Given the description of an element on the screen output the (x, y) to click on. 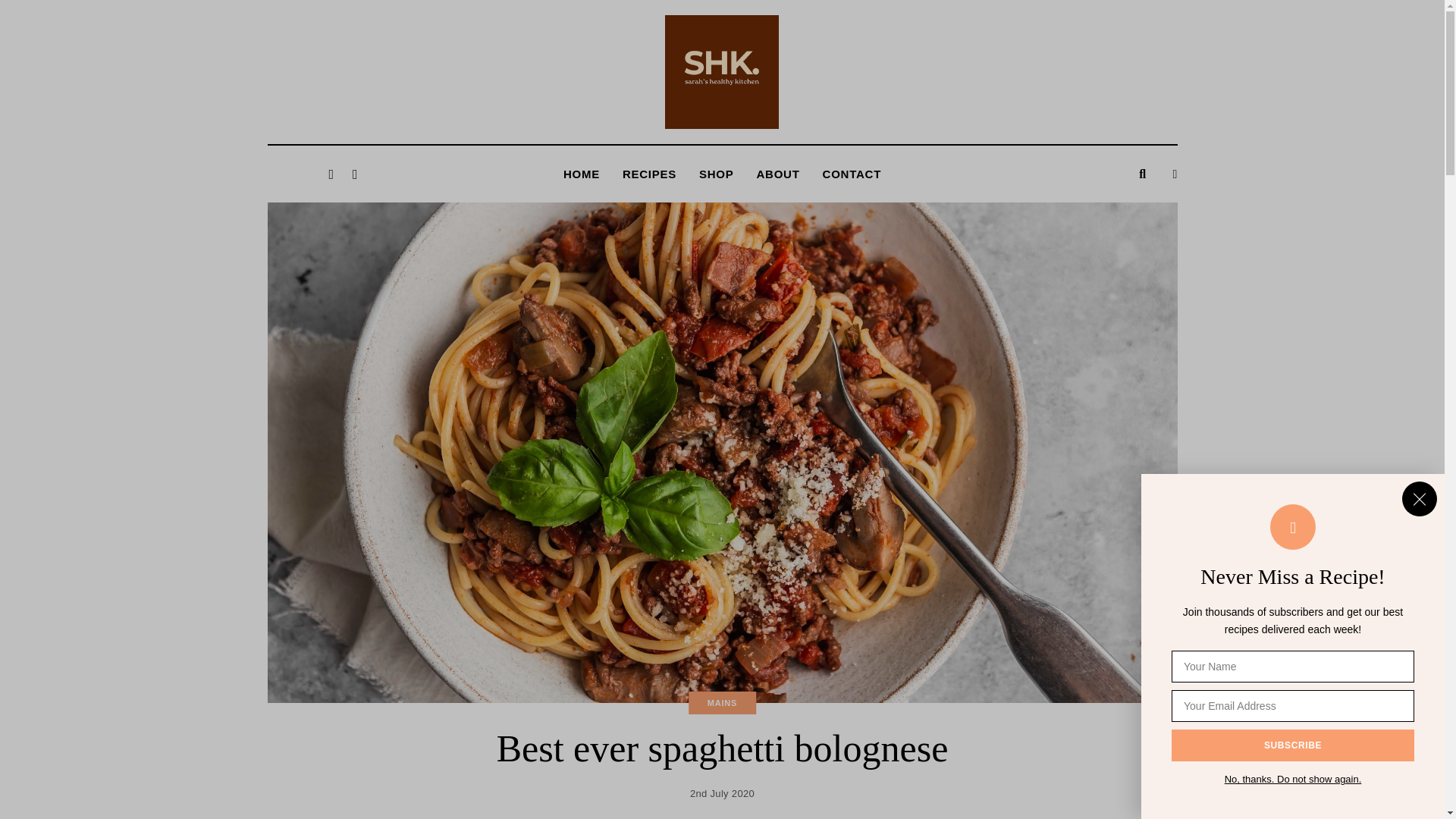
ABOUT (777, 173)
RECIPES (649, 173)
HOME (581, 173)
SHOP (716, 173)
Facebook (330, 173)
Subscribe (1292, 745)
CONTACT (851, 173)
